Given the description of an element on the screen output the (x, y) to click on. 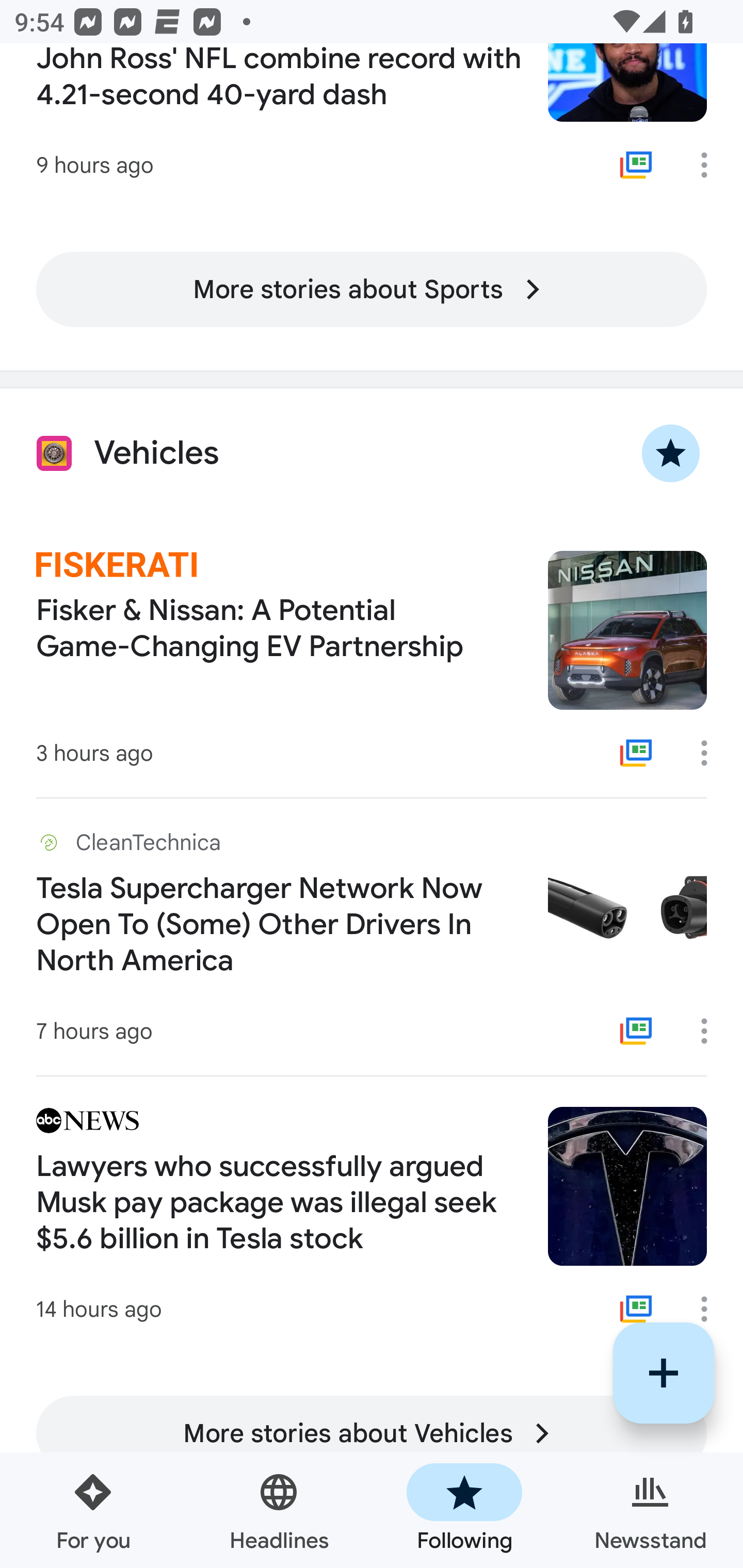
More options (711, 165)
More stories about Sports (371, 289)
Vehicles Vehicles Unfollow (371, 453)
Unfollow (670, 453)
More options (711, 753)
More options (711, 1030)
More options (711, 1309)
Follow (663, 1372)
More stories about Vehicles (371, 1432)
For you (92, 1509)
Headlines (278, 1509)
Following (464, 1509)
Newsstand (650, 1509)
